Given the description of an element on the screen output the (x, y) to click on. 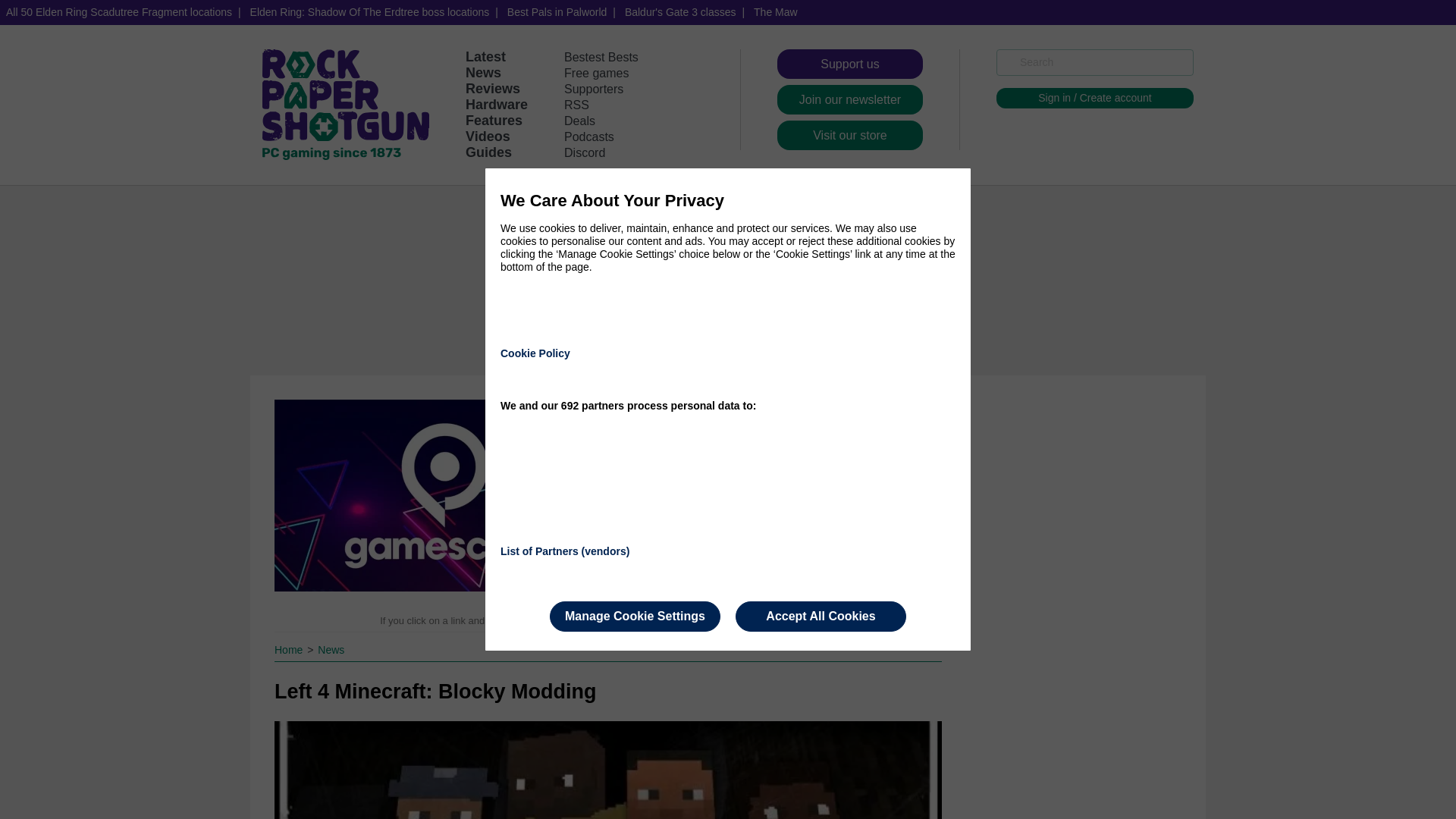
Reviews (492, 88)
Gamescom 2024 (445, 495)
Mafia: The Old Country announced, set in Sicily (774, 527)
RSS (576, 104)
Videos (488, 136)
Podcasts (589, 136)
Bestest Bests (601, 56)
Support us (850, 63)
Deals (579, 120)
Bestest Bests (601, 56)
